Given the description of an element on the screen output the (x, y) to click on. 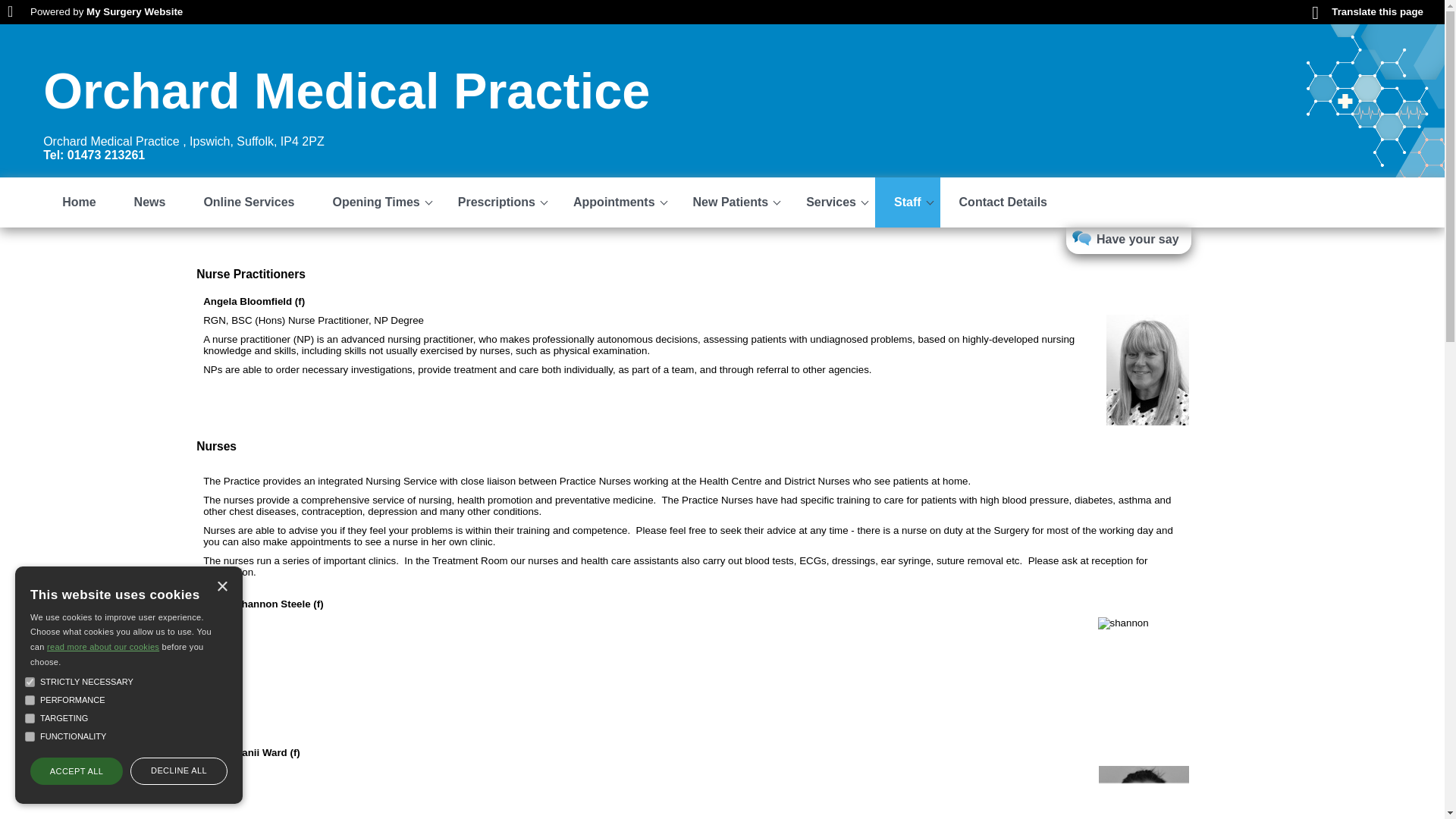
targeting (29, 718)
My Surgery Website (134, 11)
strict (29, 682)
Full contact details (162, 148)
New Patients (730, 202)
performance (29, 700)
Orchard Medical Practice (346, 90)
DECLINE ALL (179, 770)
Online Services (248, 202)
